Given the description of an element on the screen output the (x, y) to click on. 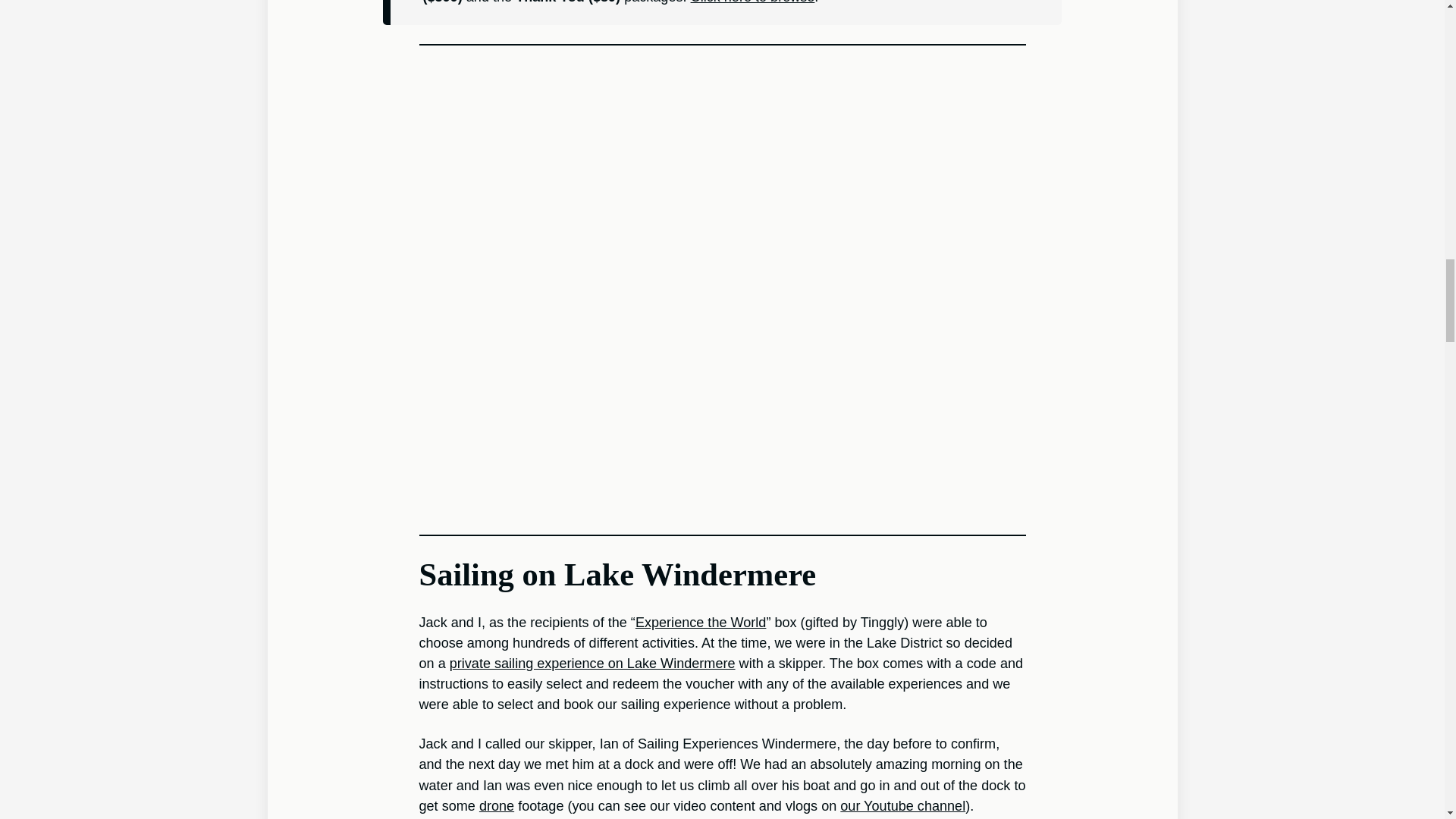
Tinggly (752, 2)
Tinggly: Experience the World (700, 622)
DJI (496, 806)
Tinggly: Sailing on Lake Windermere (592, 663)
